Given the description of an element on the screen output the (x, y) to click on. 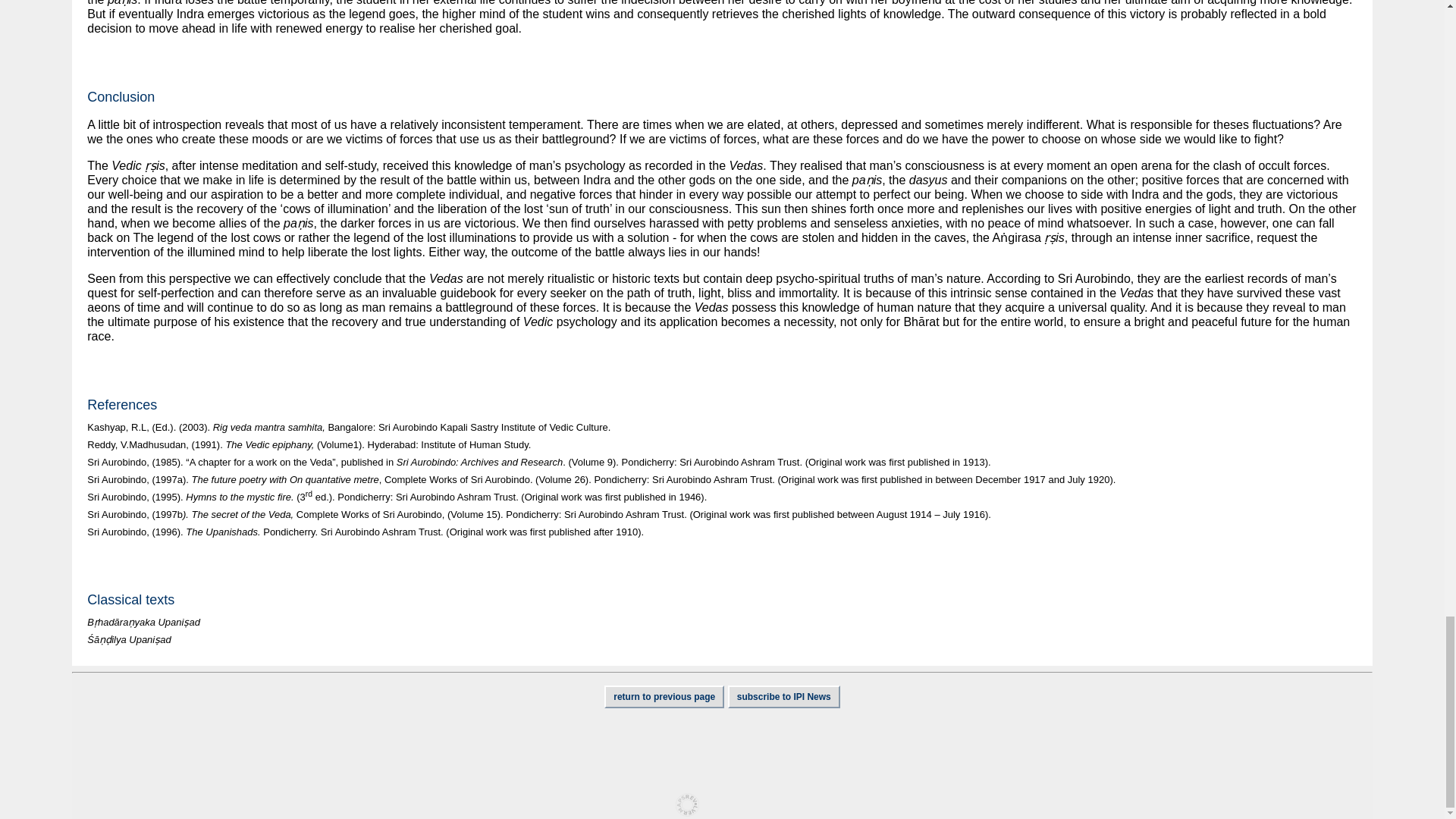
return to previous page (663, 696)
subscribe to IPI News (784, 696)
